Given the description of an element on the screen output the (x, y) to click on. 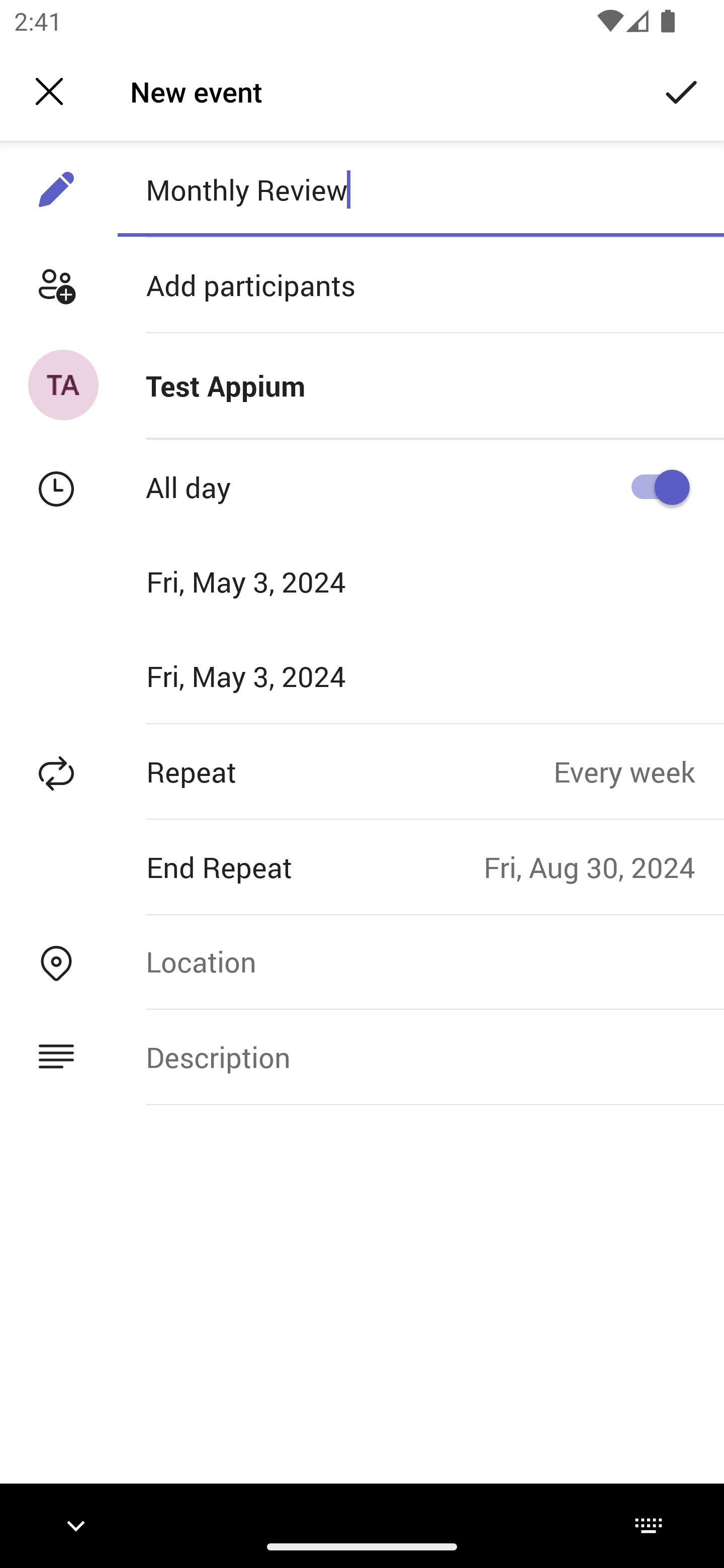
Back (49, 91)
Send invite (681, 90)
Monthly Review (420, 189)
Add participants Add participants option (362, 285)
All day (654, 486)
Fri, May 3, 2024 Starts Friday May 03, 2024 (288, 581)
Fri, May 3, 2024 Ends Friday May 03, 2024 (288, 675)
Repeat (276, 771)
Every week Repeat Every week (638, 771)
End Repeat (241, 867)
Fri, Aug 30, 2024 End repeat Friday Aug 30, 2024 (603, 867)
Location (420, 961)
Description (420, 1056)
